Given the description of an element on the screen output the (x, y) to click on. 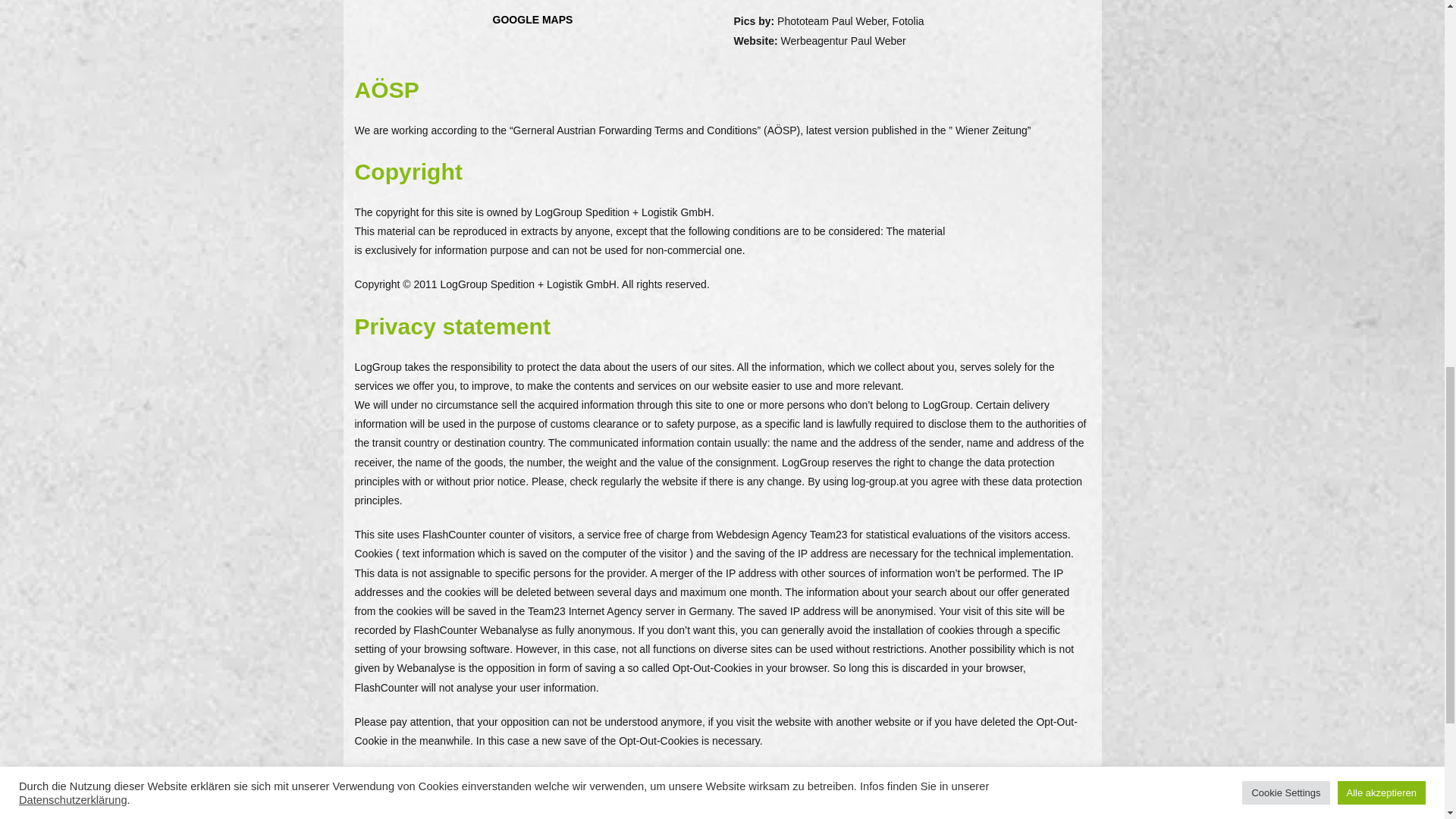
GOOGLE MAPS (533, 19)
